Given the description of an element on the screen output the (x, y) to click on. 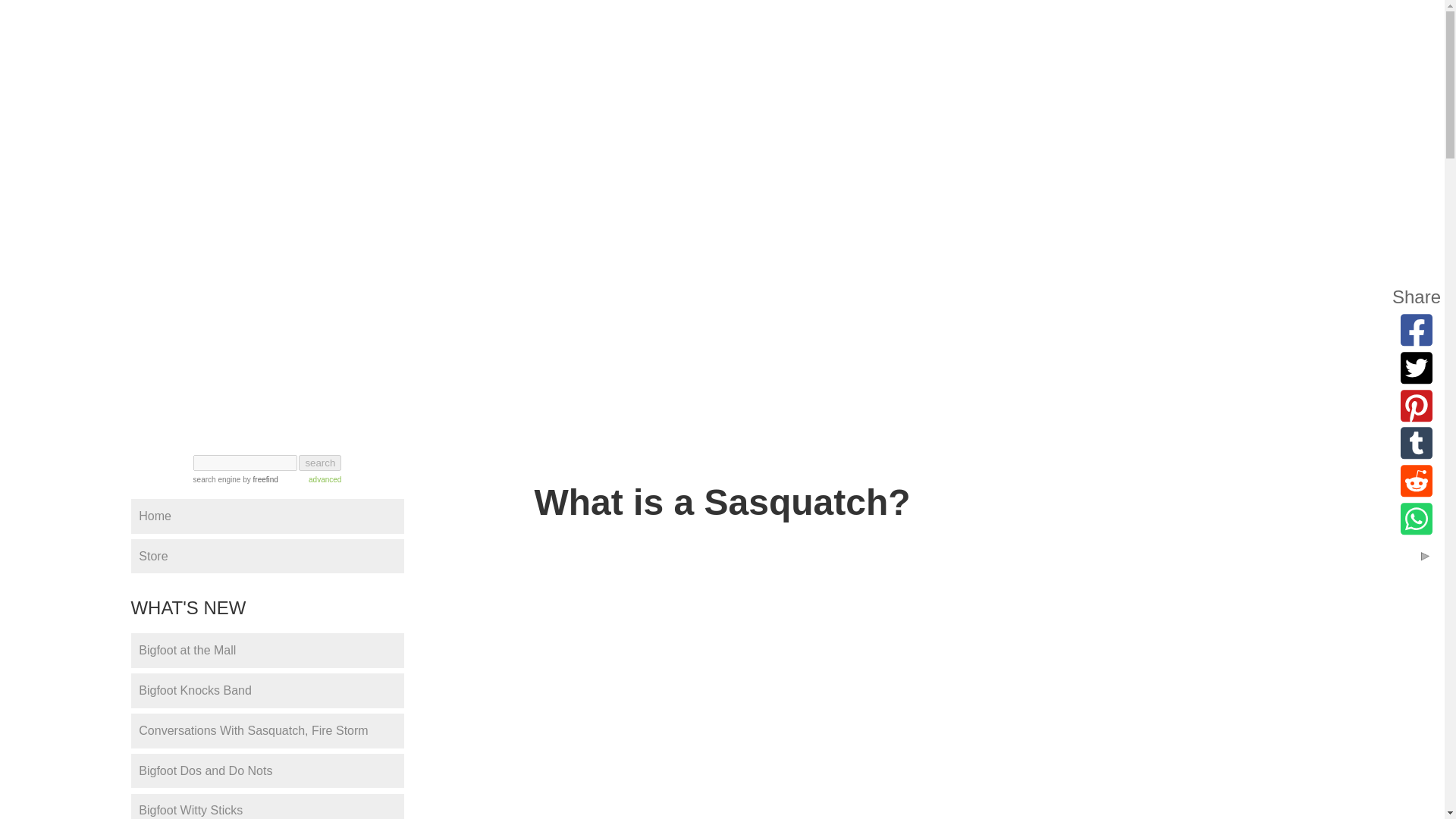
Store (267, 556)
advanced (324, 479)
search (319, 462)
Home (267, 515)
Conversations With Sasquatch, Fire Storm (267, 730)
Bigfoot at the Mall (267, 650)
Bigfoot Witty Sticks (267, 806)
search (319, 462)
Bigfoot Dos and Do Nots (267, 770)
Bigfoot Knocks Band (267, 690)
